Given the description of an element on the screen output the (x, y) to click on. 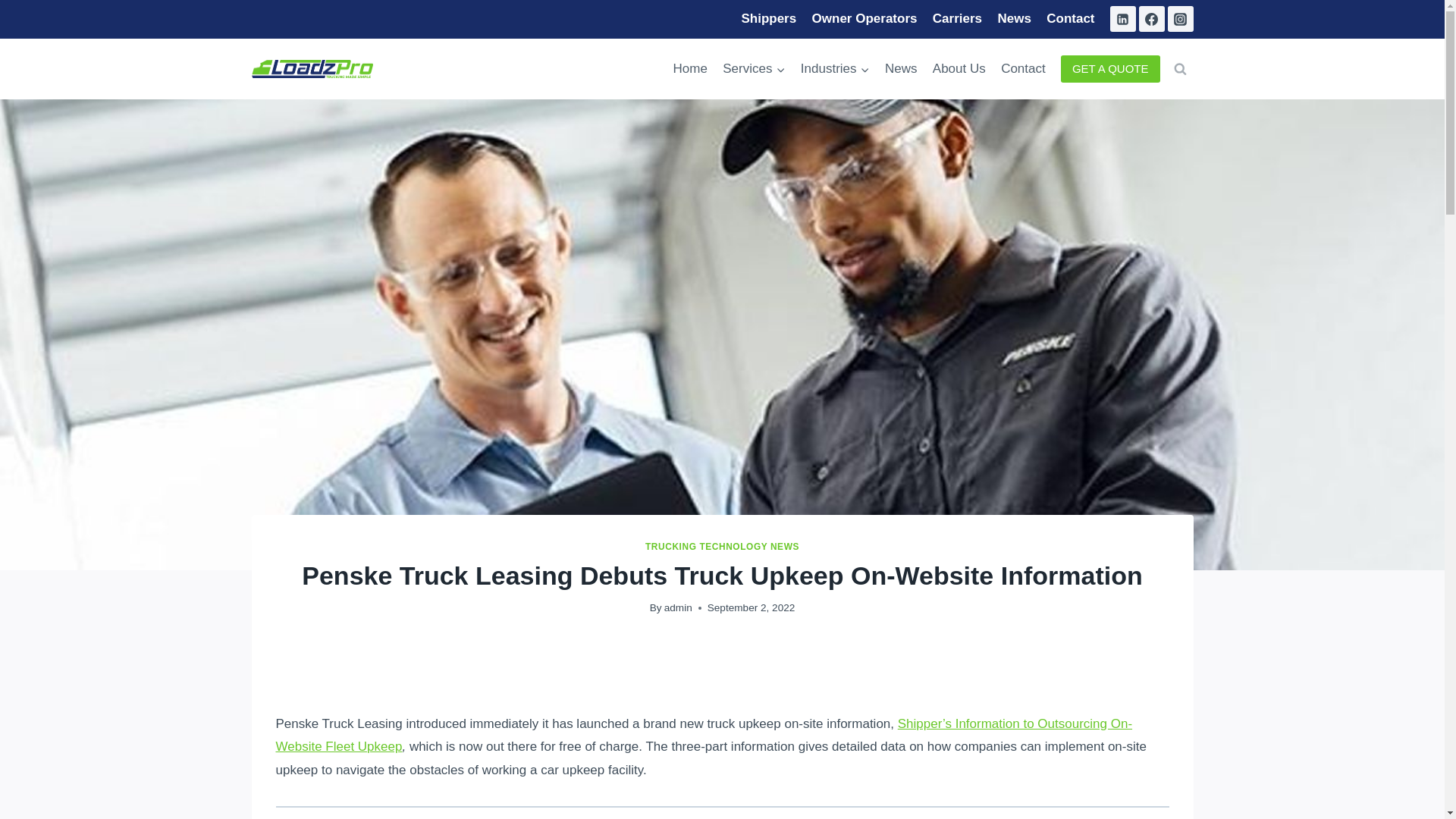
Shippers (768, 19)
About Us (958, 68)
GET A QUOTE (1110, 68)
Industries (835, 68)
Contact (1070, 19)
Home (689, 68)
Carriers (957, 19)
Owner Operators (863, 19)
News (900, 68)
News (1014, 19)
